Given the description of an element on the screen output the (x, y) to click on. 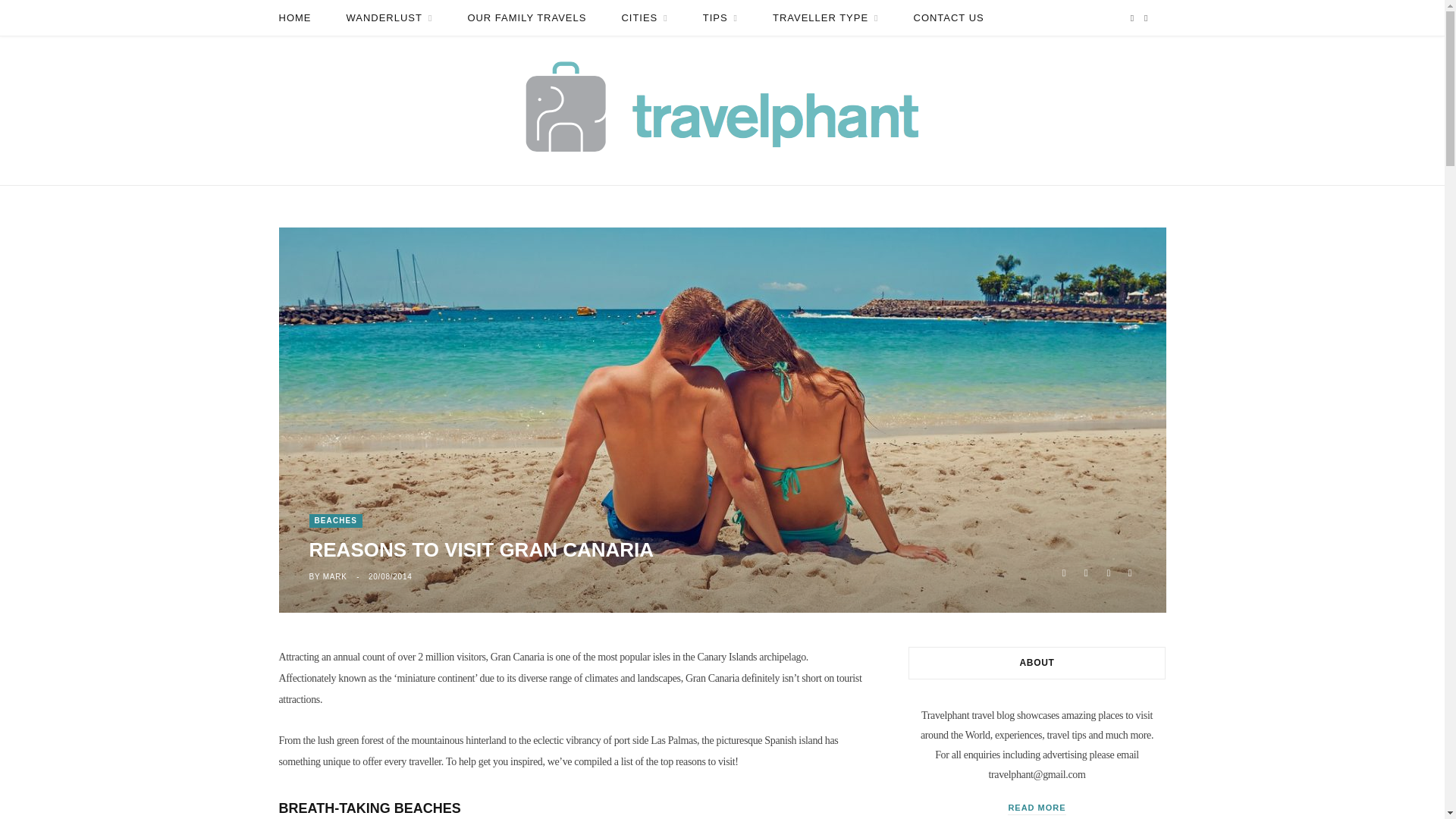
Posts by Mark (335, 576)
OUR FAMILY TRAVELS (526, 18)
Share on Pinterest (1130, 570)
Share on Facebook (1063, 570)
WANDERLUST (389, 18)
TIPS (720, 18)
Travelphant Travel Blog (721, 110)
HOME (294, 18)
TRAVELLER TYPE (825, 18)
